Given the description of an element on the screen output the (x, y) to click on. 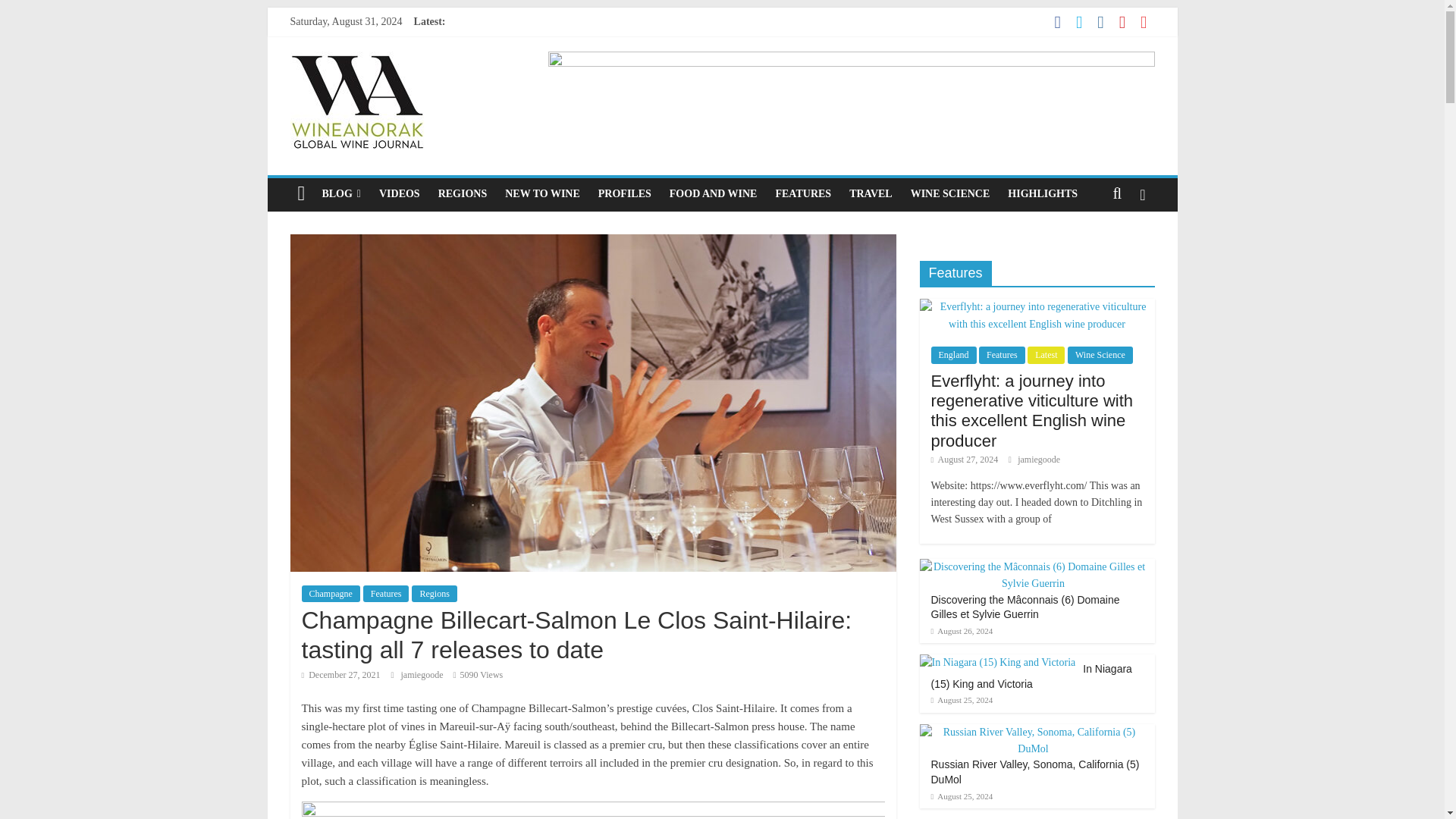
jamiegoode (422, 674)
4:46 pm (340, 674)
VIDEOS (399, 193)
WINE SCIENCE (949, 193)
FOOD AND WINE (714, 193)
HIGHLIGHTS (1042, 193)
Regions (434, 593)
Features (385, 593)
December 27, 2021 (340, 674)
